Given the description of an element on the screen output the (x, y) to click on. 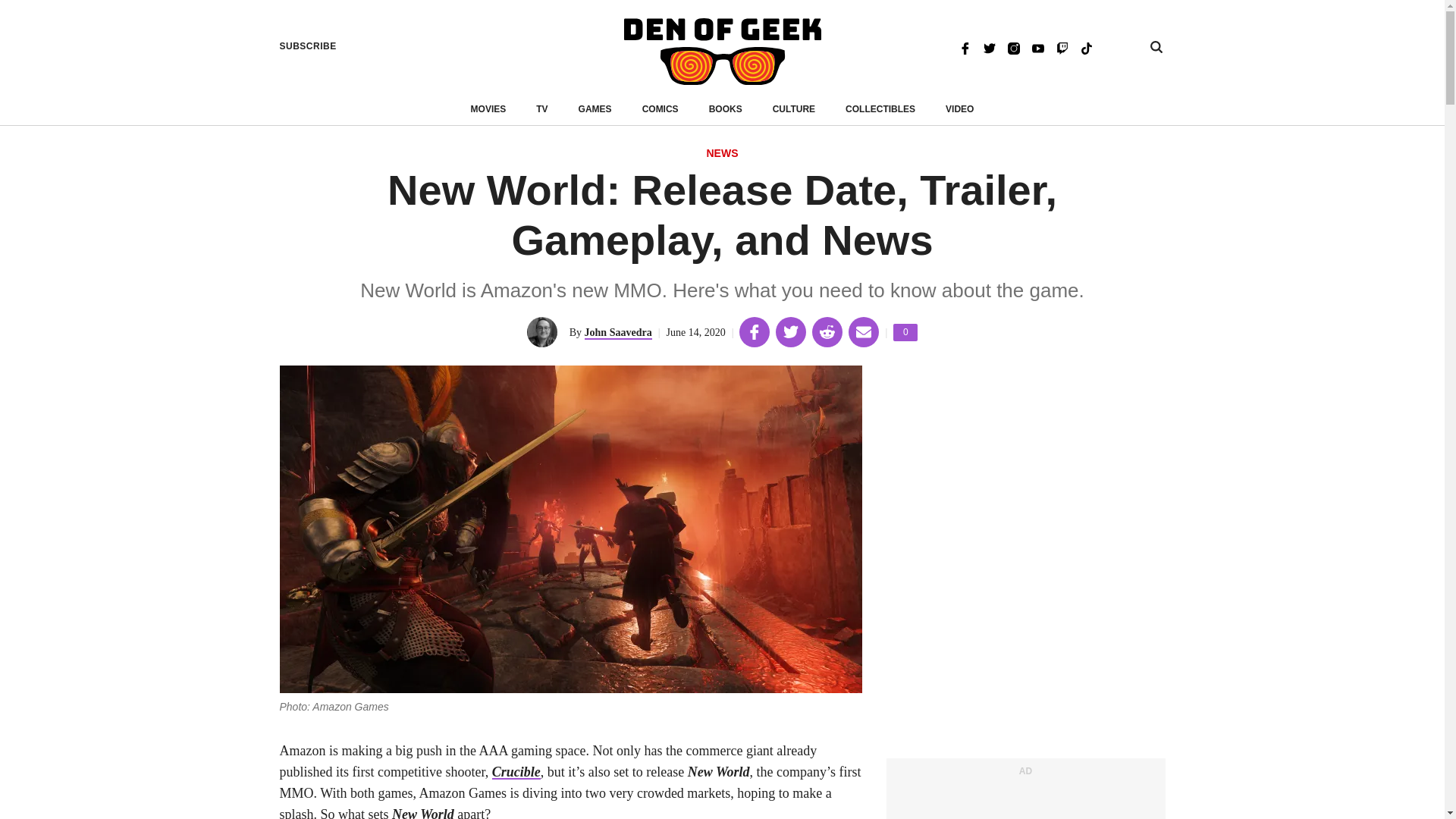
MOVIES (488, 109)
VIDEO (959, 109)
COMICS (660, 109)
Crucible (905, 332)
COLLECTIBLES (516, 771)
CULTURE (880, 109)
TikTok (794, 109)
John Saavedra (1085, 46)
Instagram (618, 332)
GAMES (1013, 46)
NEWS (594, 109)
Twitch (722, 153)
SUBSCRIBE (1061, 46)
BOOKS (307, 46)
